Given the description of an element on the screen output the (x, y) to click on. 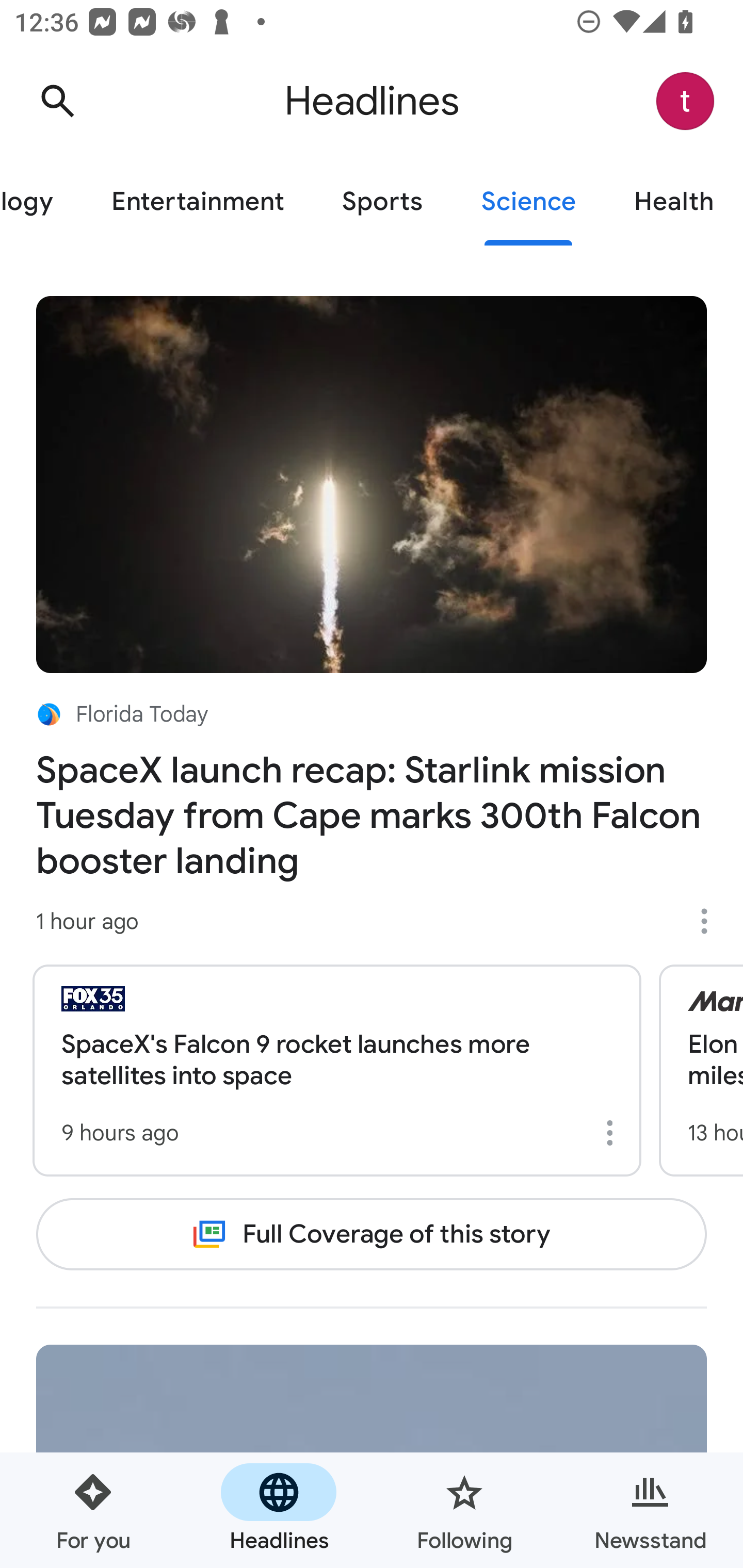
Search (57, 100)
Technology (40, 202)
Entertainment (197, 202)
Sports (382, 202)
Health (673, 202)
More options (711, 921)
More options (613, 1132)
Full Coverage of this story (371, 1233)
For you (92, 1509)
Headlines (278, 1509)
Following (464, 1509)
Newsstand (650, 1509)
